Given the description of an element on the screen output the (x, y) to click on. 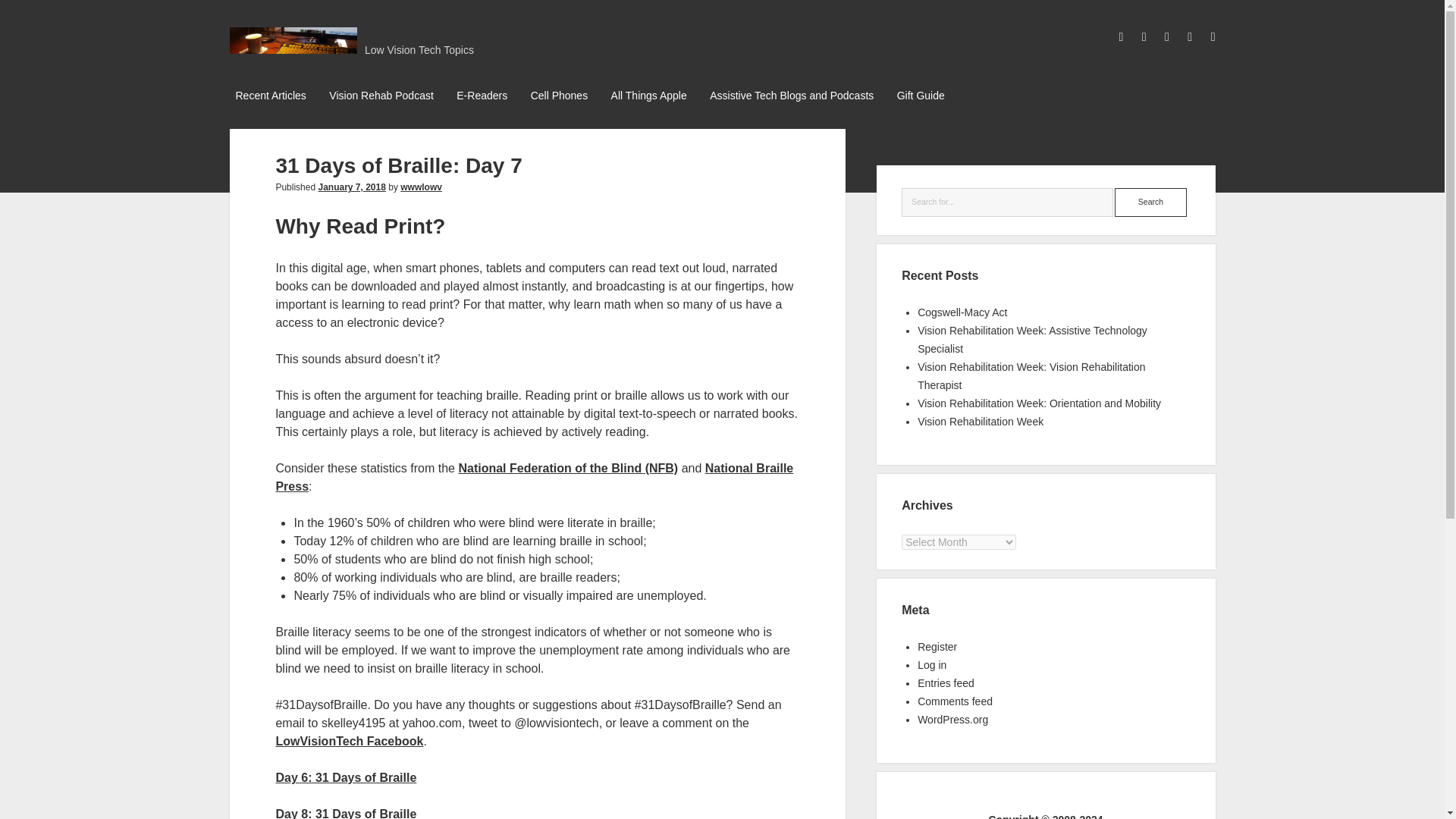
Search (1150, 202)
Gift Guide (920, 96)
LowVisionTech Facebook (349, 740)
Recent Articles (269, 96)
Search for: (1007, 202)
Vision Rehabilitation Week: Assistive Technology Specialist (1032, 339)
Day 8: 31 Days of Braille (345, 813)
Low Vision Tech (292, 47)
Assistive Tech Blogs and Podcasts (791, 96)
National Braille Press (534, 477)
January 7, 2018 (351, 186)
Day 6: 31 Days of Braille (345, 777)
wwwlowv (421, 186)
E-Readers (481, 96)
Vision Rehab Podcast (381, 96)
